Given the description of an element on the screen output the (x, y) to click on. 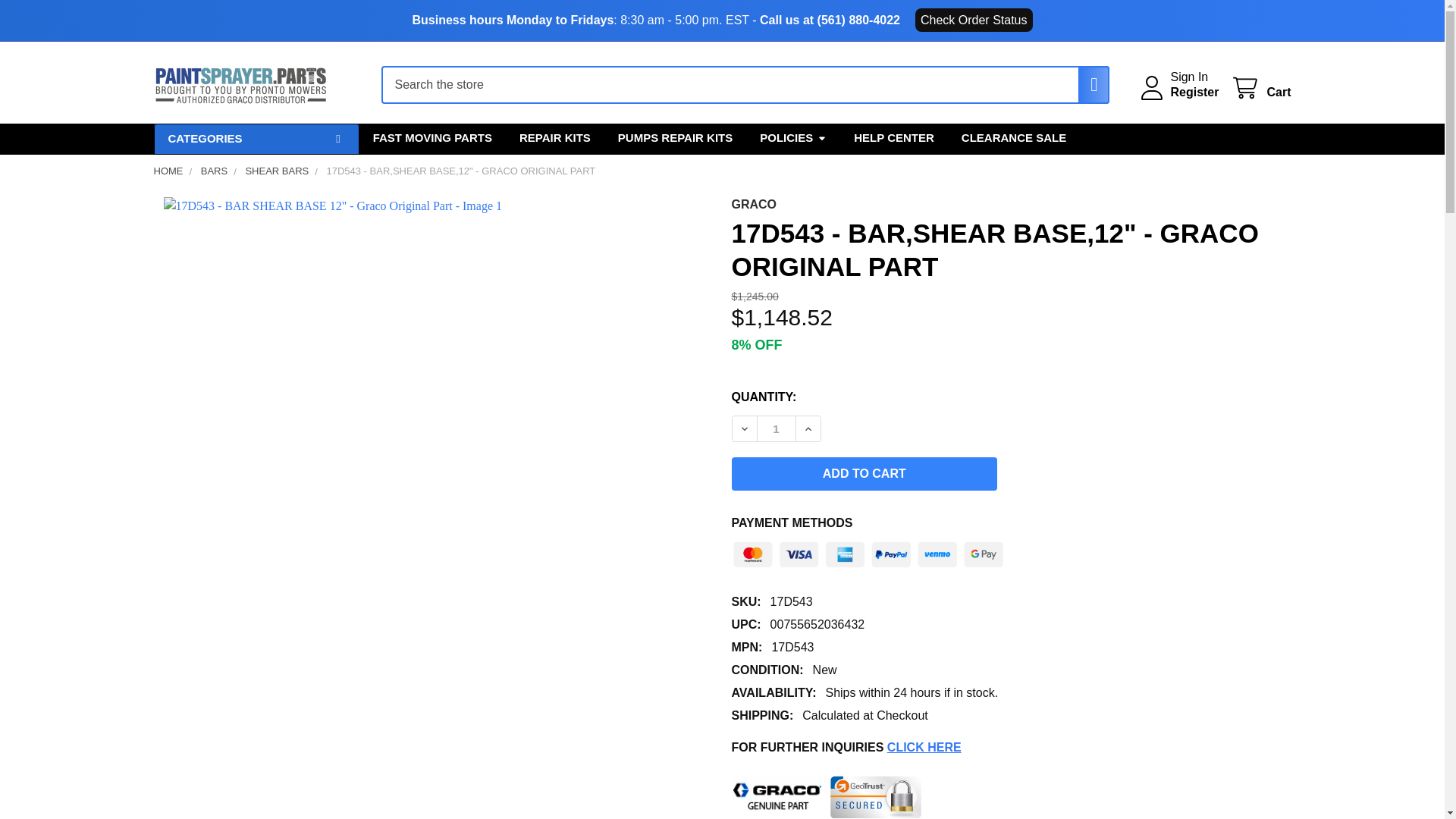
Cart (1260, 87)
Graco Original part (776, 796)
Check Order Status (973, 19)
Register (1194, 92)
Cart (1260, 87)
Paintsprayer Parts (239, 84)
Search (1085, 85)
Payment Methods (867, 551)
GeoTrust Secured (874, 796)
Sign In (1189, 77)
Add to Cart (863, 473)
Search (1085, 85)
1 (775, 428)
CATEGORIES (255, 138)
